Given the description of an element on the screen output the (x, y) to click on. 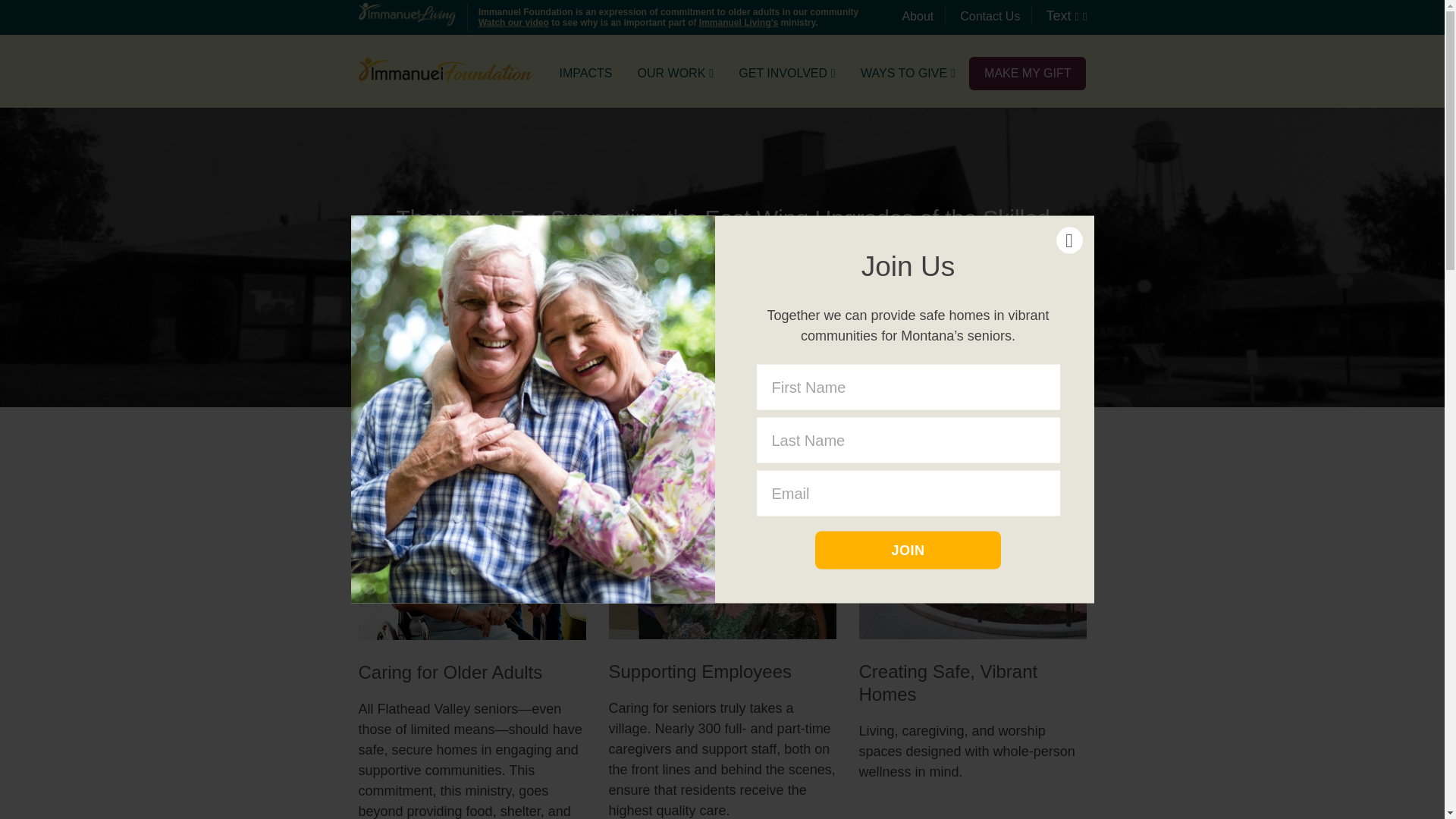
Watch our video (513, 22)
OUR WORK (675, 79)
WAYS TO GIVE (907, 79)
Join (907, 549)
IMPACTS (585, 79)
GET INVOLVED (786, 79)
About (917, 15)
Contact Us (989, 15)
